Given the description of an element on the screen output the (x, y) to click on. 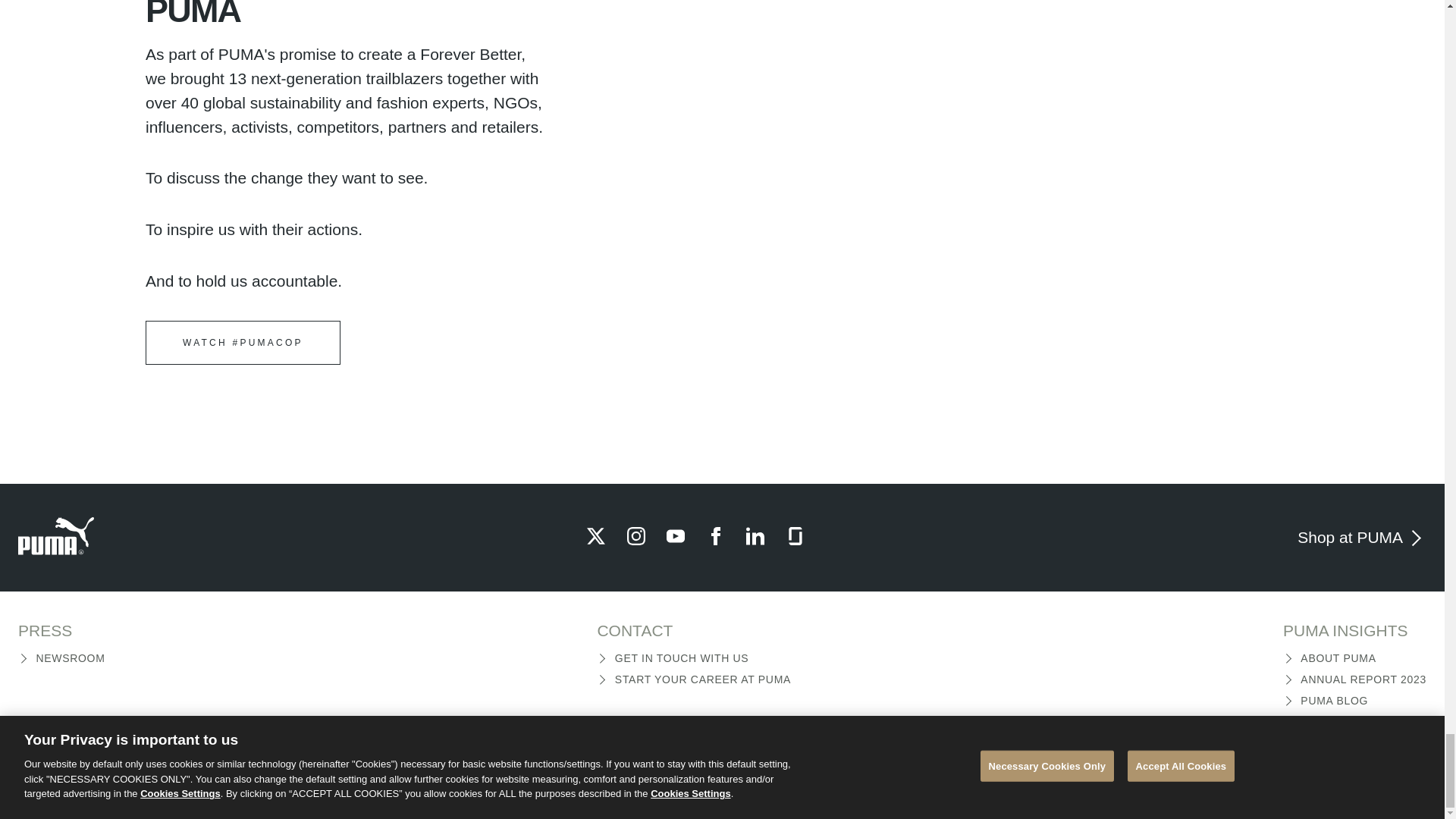
Rules for the Complaints Procedure (667, 771)
